Given the description of an element on the screen output the (x, y) to click on. 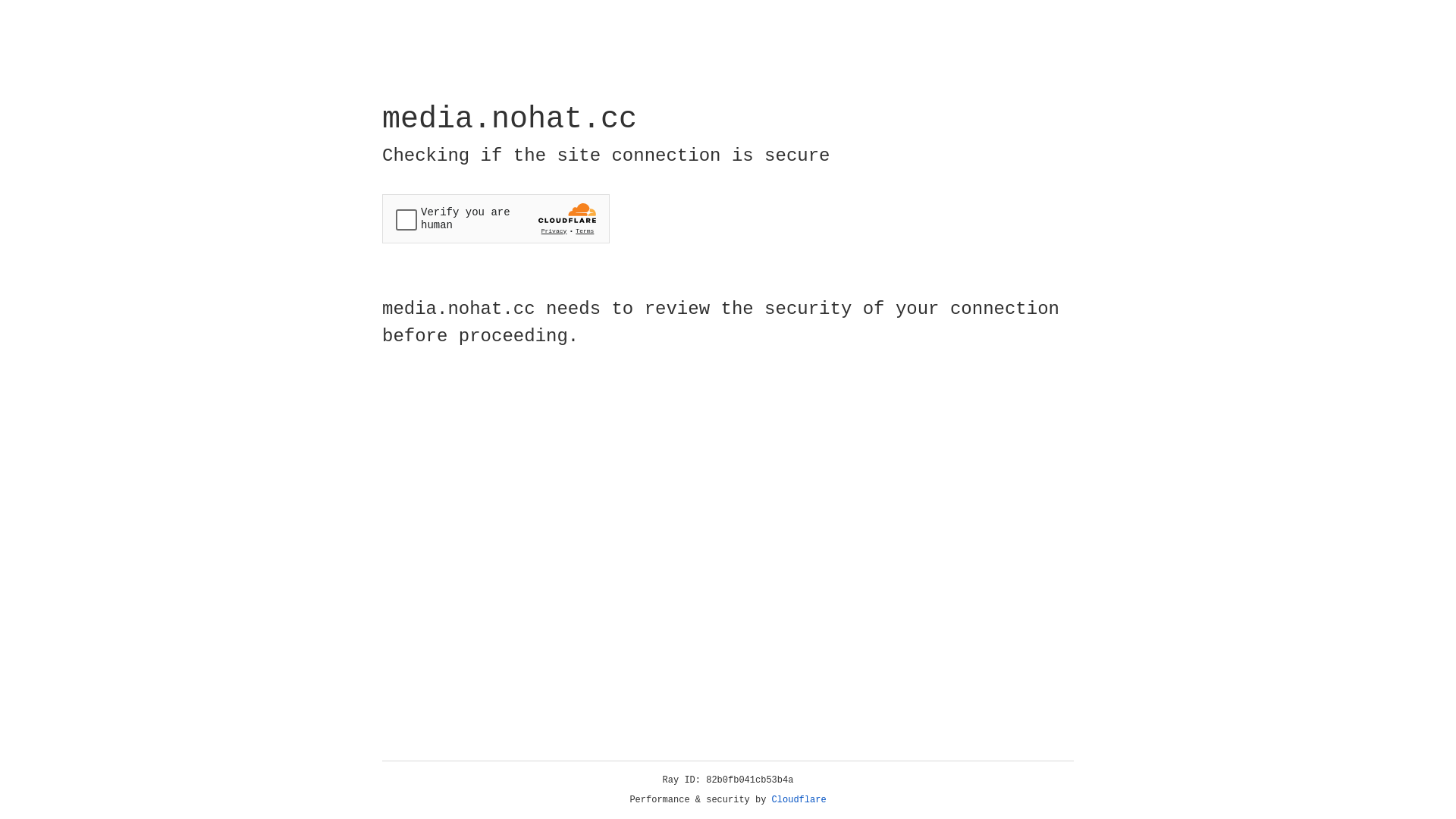
Widget containing a Cloudflare security challenge Element type: hover (495, 218)
Cloudflare Element type: text (798, 799)
